Given the description of an element on the screen output the (x, y) to click on. 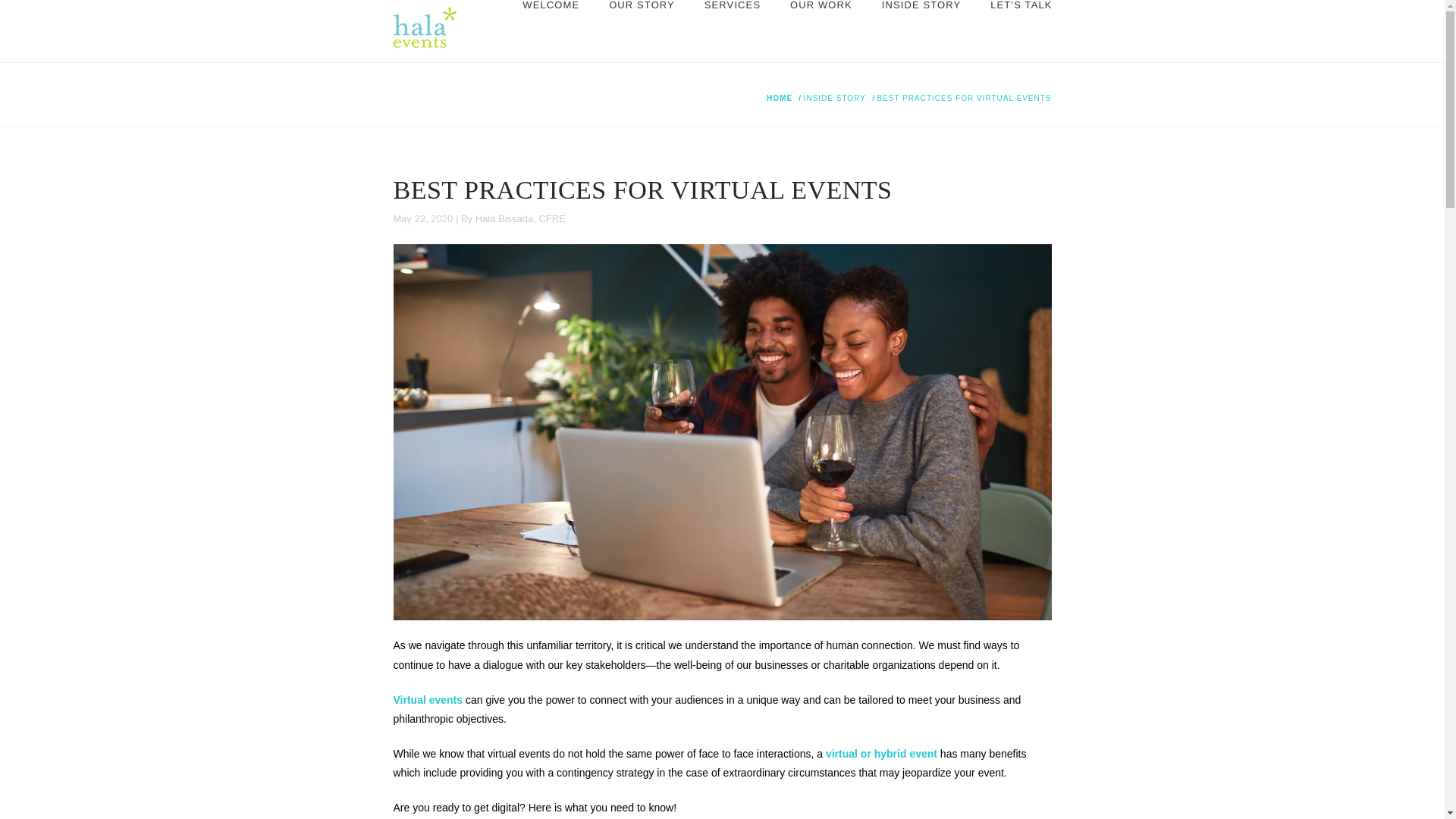
SERVICES (731, 31)
OUR WORK (820, 31)
OUR STORY (641, 31)
HOME (779, 98)
Virtual events (428, 699)
BEST PRACTICES FOR VIRTUAL EVENTS (963, 98)
INSIDE STORY (834, 98)
virtual or hybrid event (881, 753)
WELCOME (550, 31)
You Are Here (963, 98)
INSIDE STORY (920, 31)
